Given the description of an element on the screen output the (x, y) to click on. 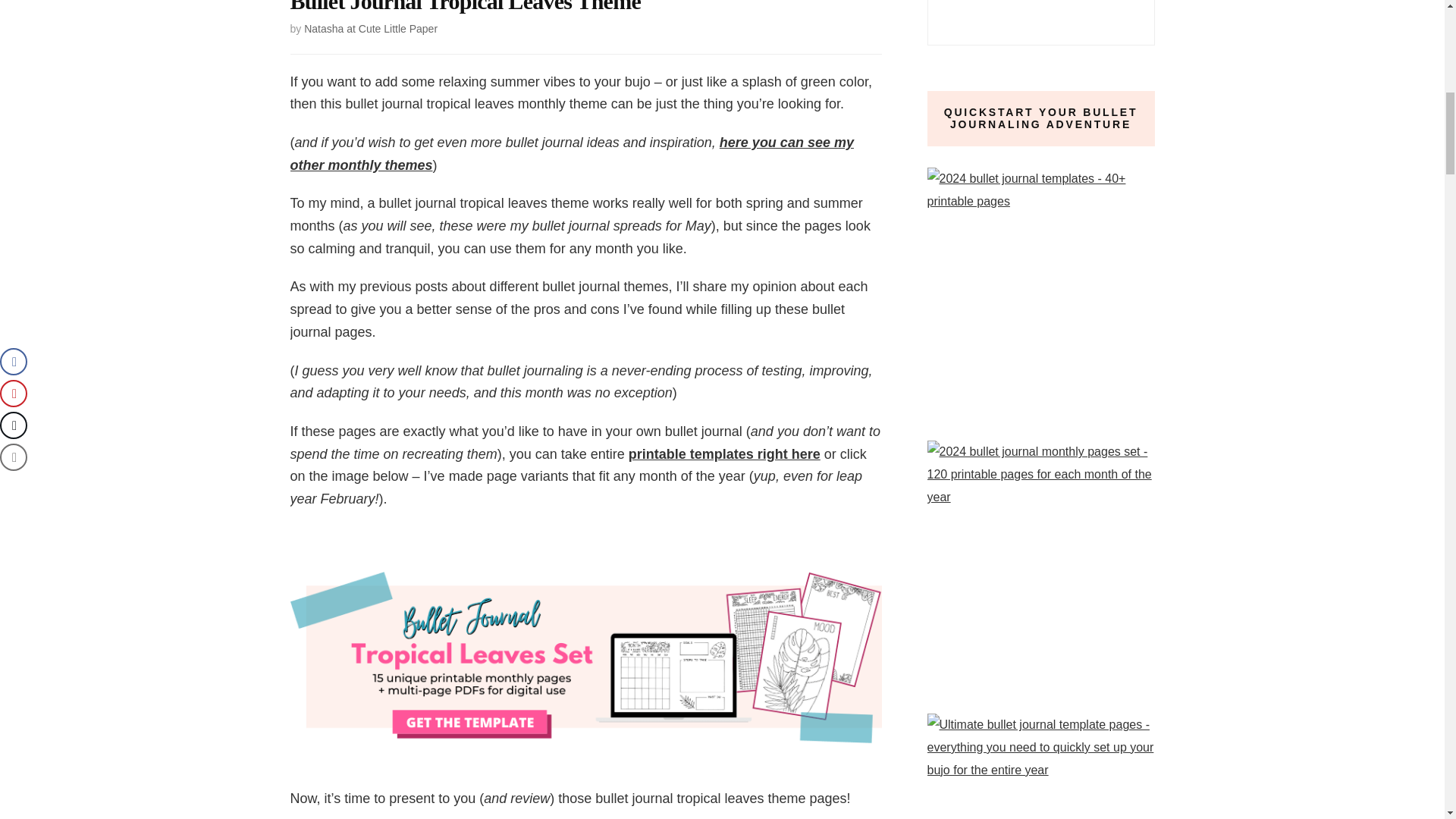
printable templates right here (724, 453)
here you can see my other monthly themes (571, 153)
Natasha at Cute Little Paper (371, 28)
